Given the description of an element on the screen output the (x, y) to click on. 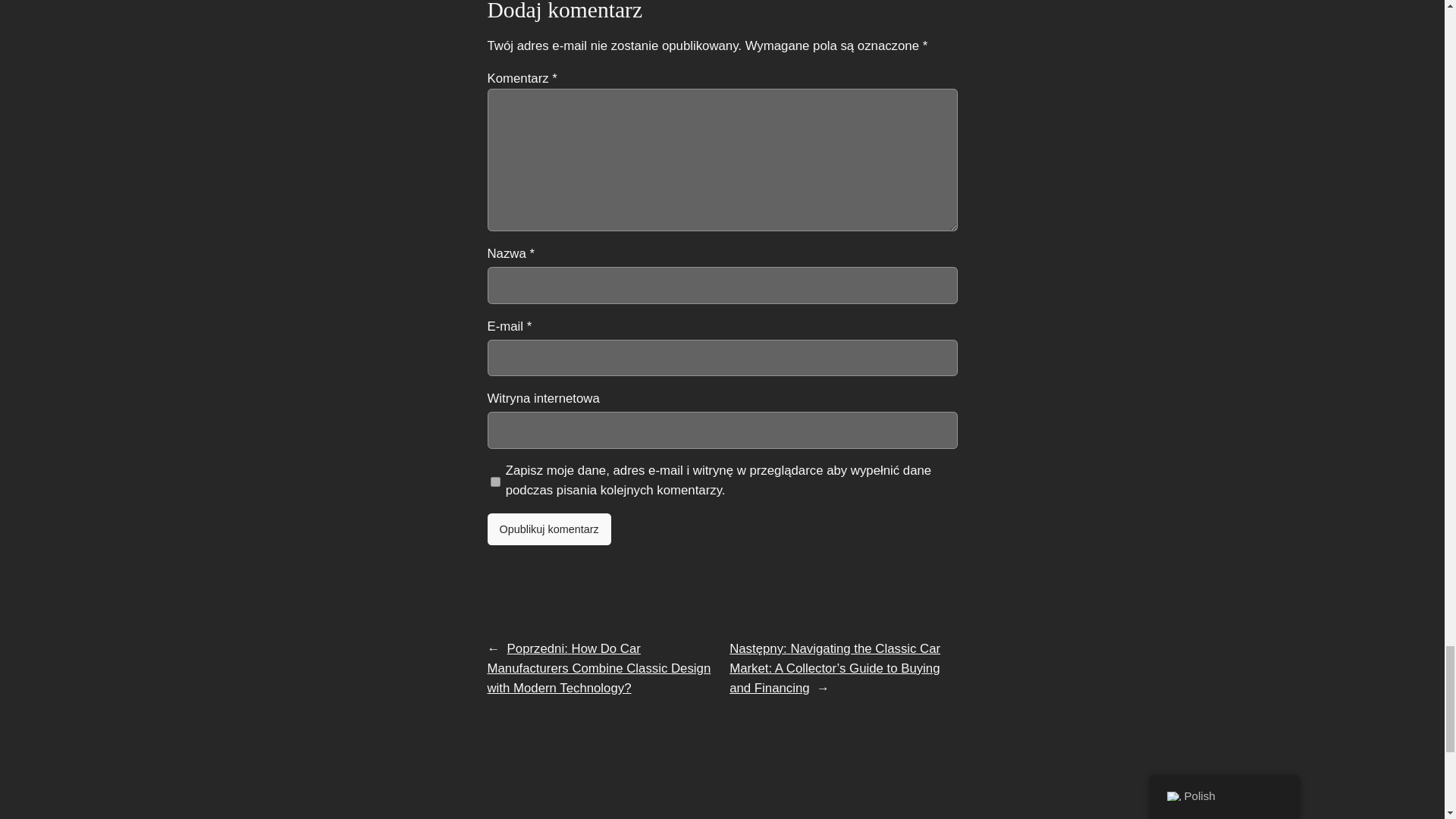
Opublikuj komentarz (548, 529)
yes (494, 481)
Opublikuj komentarz (548, 529)
